Given the description of an element on the screen output the (x, y) to click on. 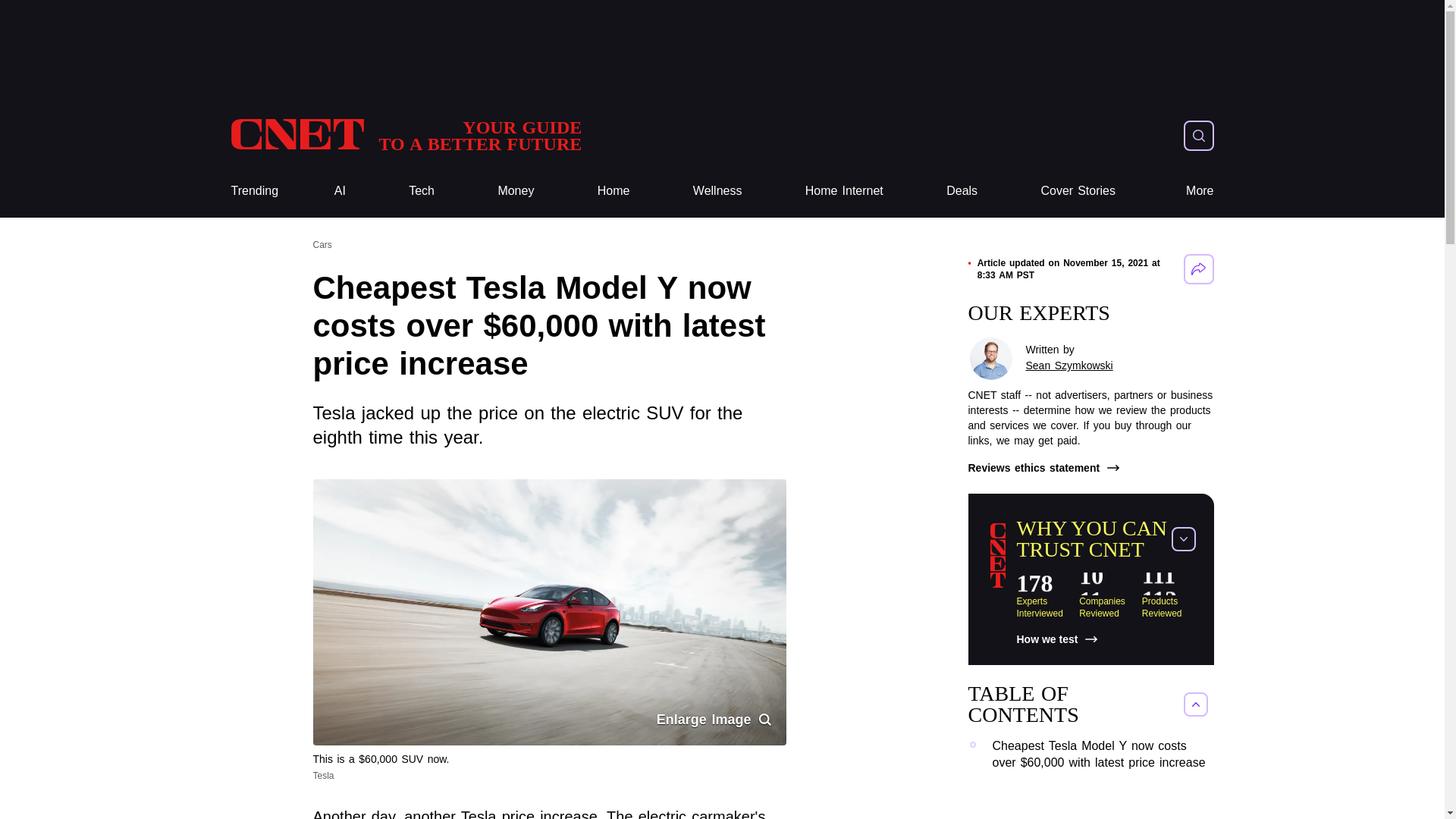
Wellness (405, 135)
Trending (717, 190)
Tech (254, 190)
Tech (421, 190)
Trending (421, 190)
Home Internet (254, 190)
Cover Stories (844, 190)
Home Internet (1078, 190)
Home (844, 190)
